Given the description of an element on the screen output the (x, y) to click on. 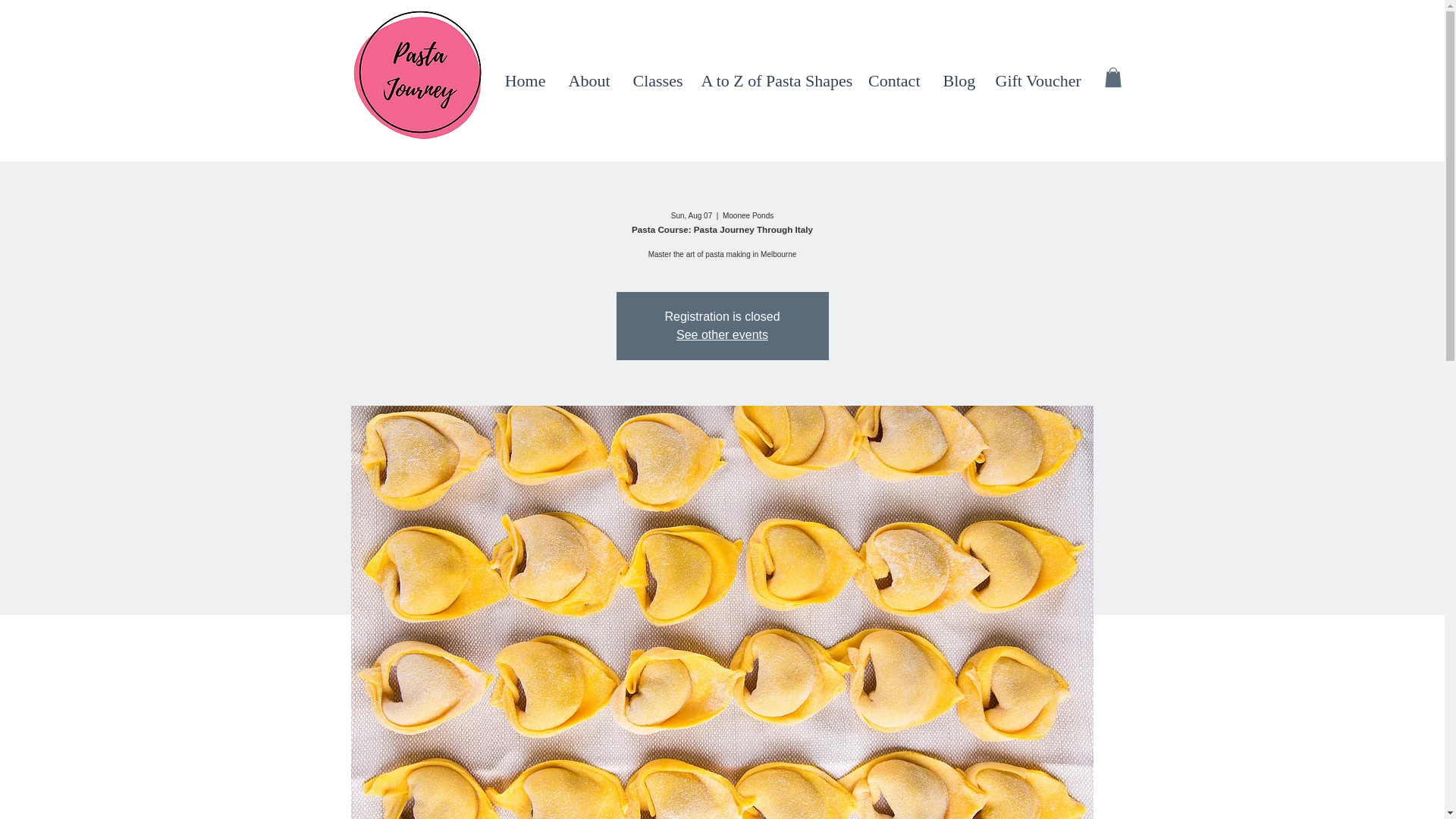
Contact (894, 80)
See other events (722, 334)
Blog (957, 80)
A to Z of Pasta Shapes (773, 80)
About (588, 80)
Home (524, 80)
Classes (655, 80)
Gift Voucher (1038, 80)
